Given the description of an element on the screen output the (x, y) to click on. 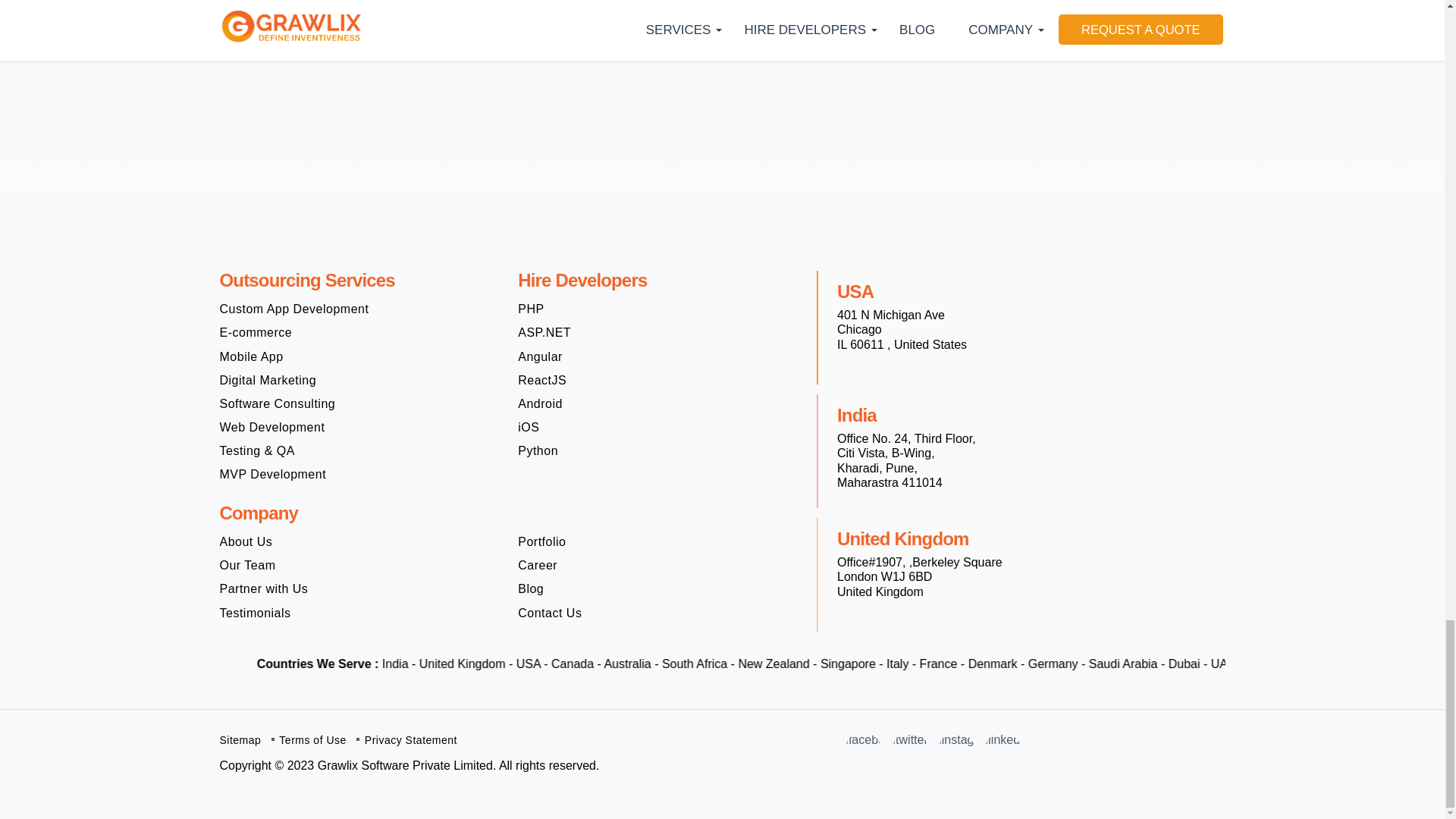
Hire iPhone Developer (528, 427)
Hire PHP Developer (530, 309)
Software Consulting Services Provider Company (277, 403)
Software Testing Company (257, 450)
Hire React JS Developer (542, 380)
Hire ASP.NET Developer (544, 332)
Hire Angular JS Developer (540, 356)
Custom Software Development Provider Company (294, 309)
Ecommerce Development Provider Company (255, 332)
Website Development Provider Company (271, 427)
Digital Marketing Services Provider Company (268, 380)
Mobile App Development Provider Company (251, 356)
Hire Android Developer (540, 403)
Internet of Things Development Provider Company (272, 473)
